Given the description of an element on the screen output the (x, y) to click on. 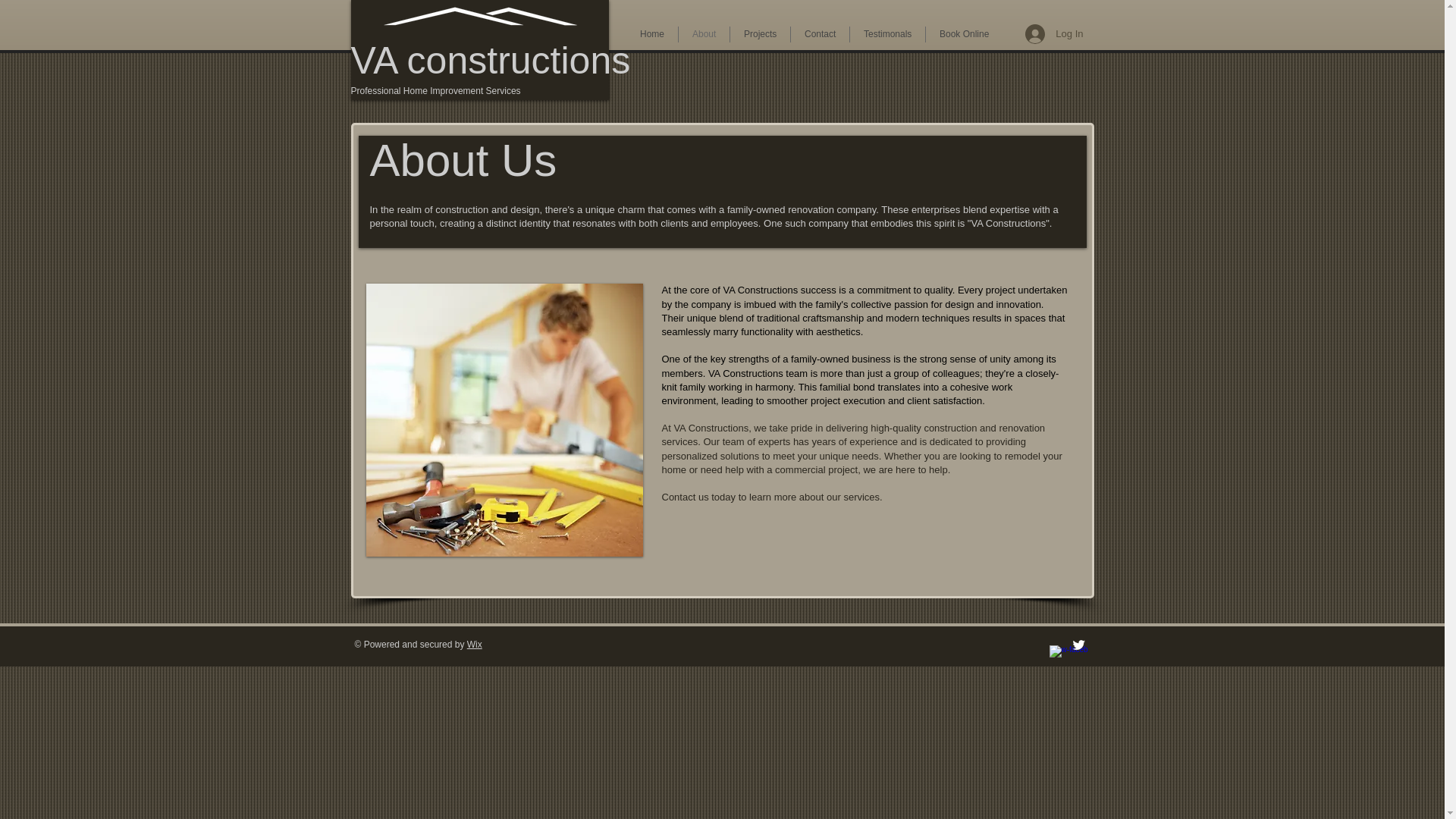
Contact (819, 34)
Home (652, 34)
About (703, 34)
Professional Home Improvement Services (434, 90)
Log In (1053, 33)
VA constructions  (495, 60)
Testimonals (887, 34)
Wix (474, 644)
Projects (760, 34)
Book Online (964, 34)
